Given the description of an element on the screen output the (x, y) to click on. 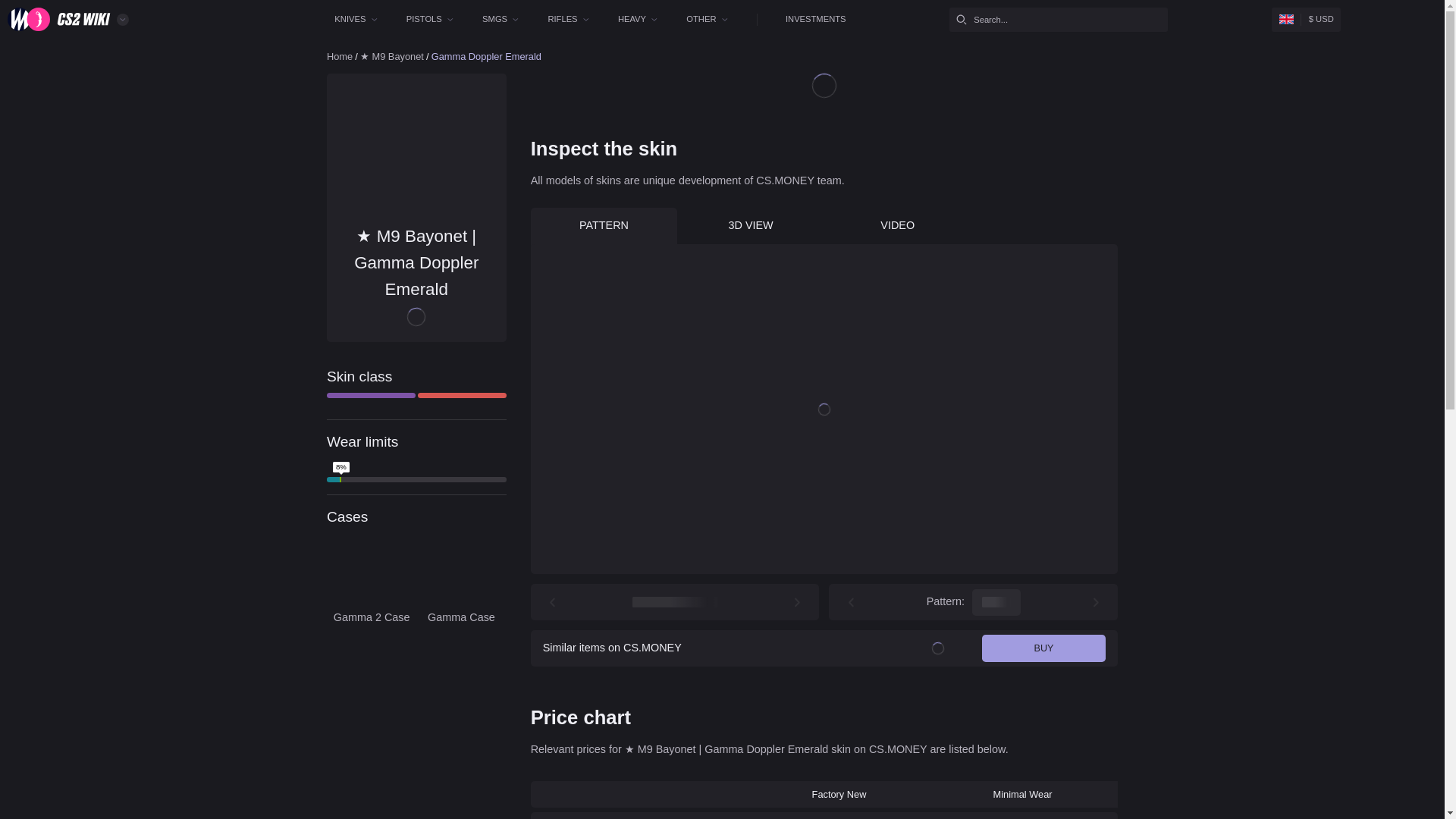
Covert (577, 494)
